Given the description of an element on the screen output the (x, y) to click on. 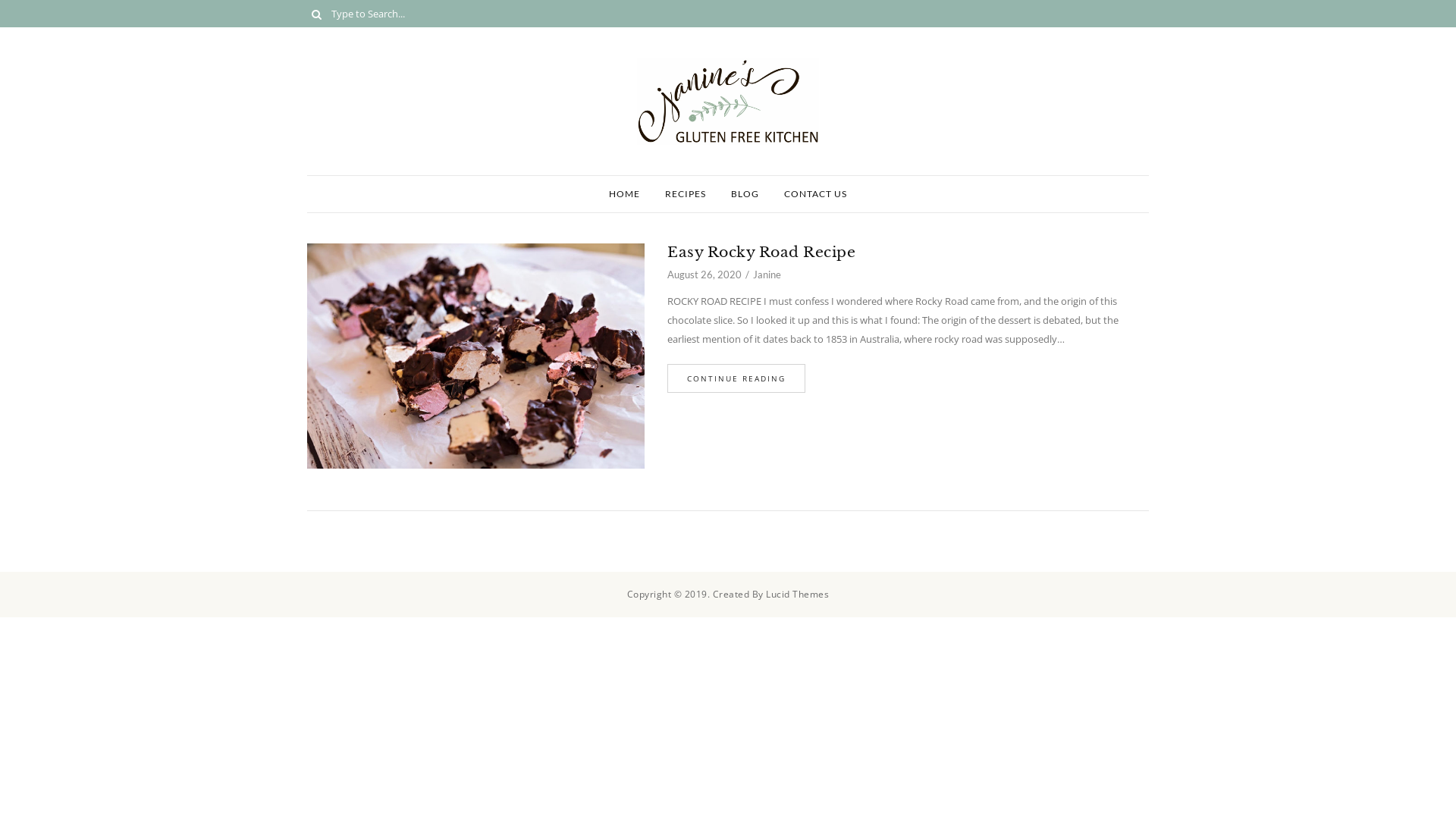
HOME Element type: text (624, 193)
RECIPES Element type: text (685, 193)
Easy Rocky Road Recipe Element type: text (907, 251)
CONTACT US Element type: text (815, 193)
CONTINUE READING Element type: text (736, 378)
BLOG Element type: text (745, 193)
